Given the description of an element on the screen output the (x, y) to click on. 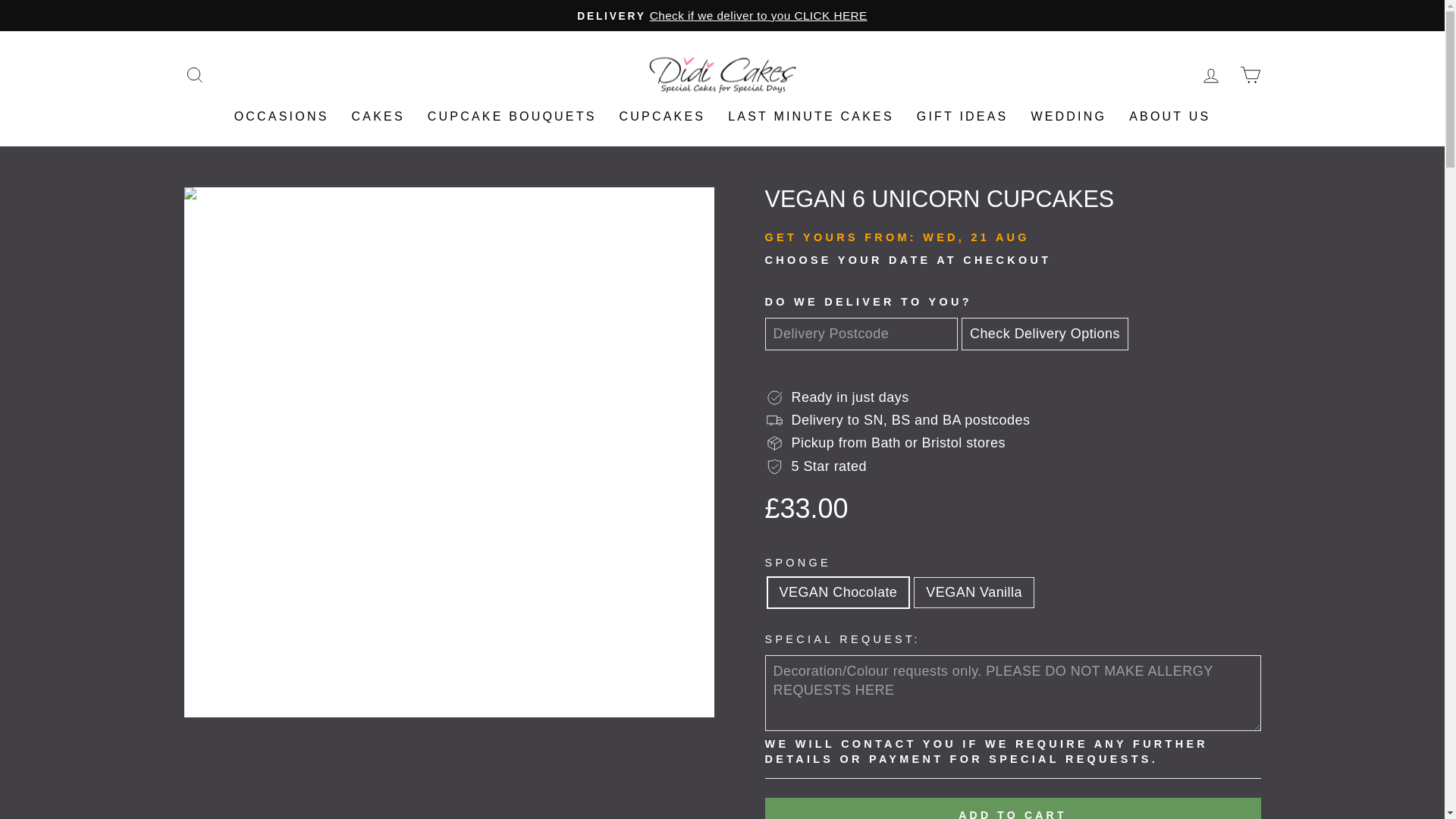
Check Delivery Options (1044, 333)
